Given the description of an element on the screen output the (x, y) to click on. 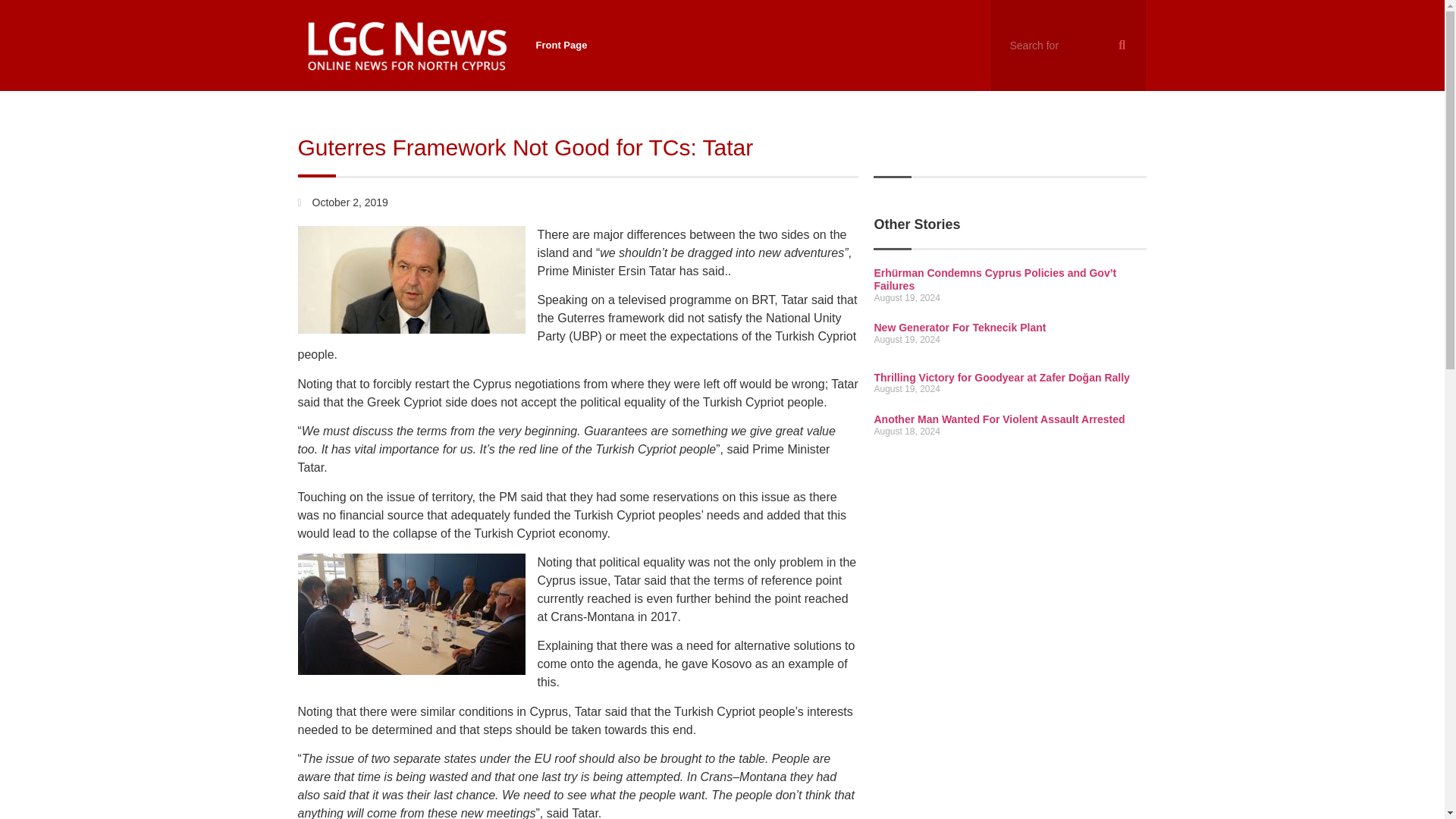
October 2, 2019 (342, 202)
New Generator For Teknecik Plant (959, 327)
Another Man Wanted For Violent Assault Arrested (998, 419)
